Given the description of an element on the screen output the (x, y) to click on. 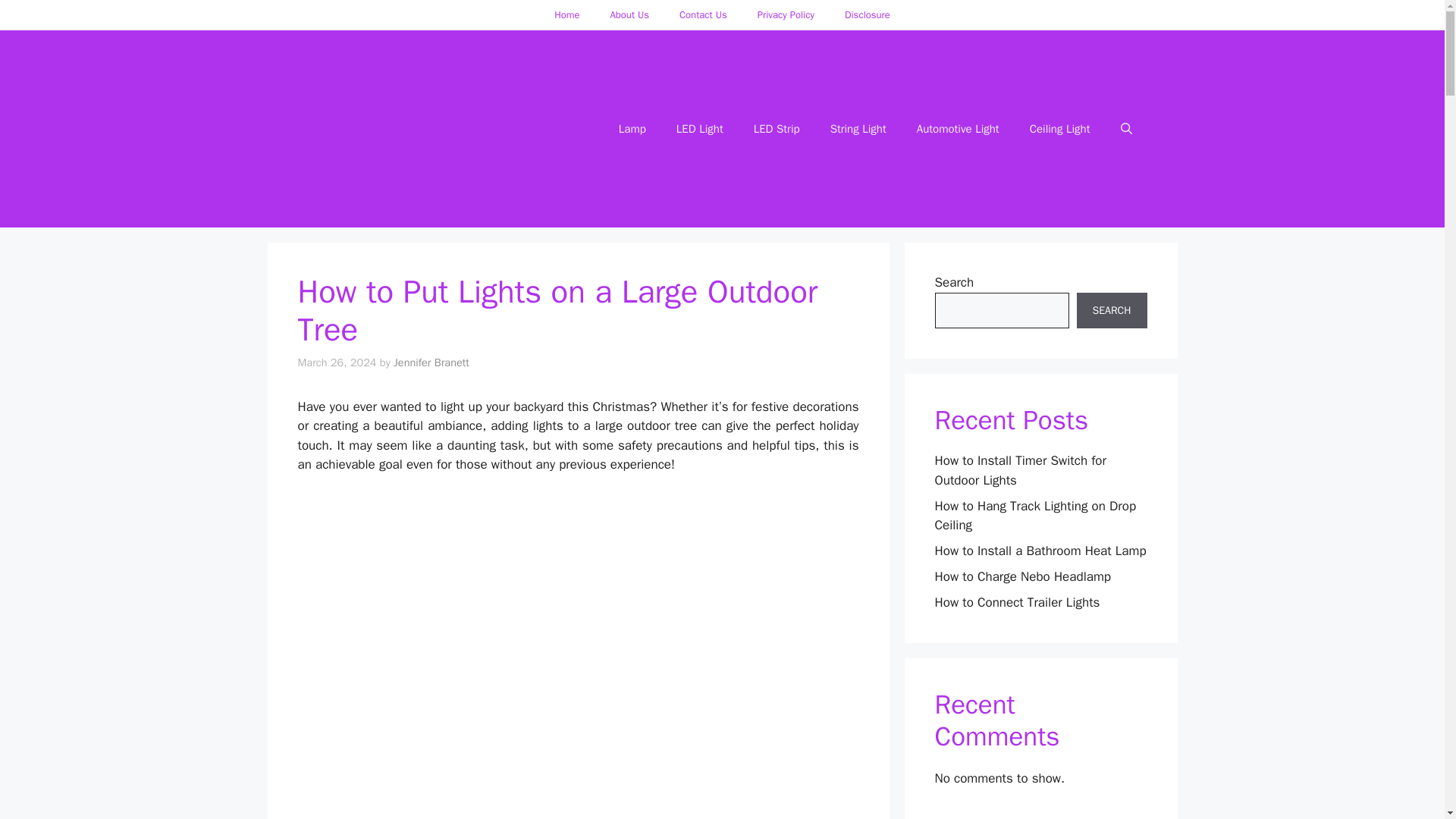
Privacy Policy (785, 15)
Disclosure (867, 15)
Jennifer Branett (430, 362)
Automotive Light (957, 128)
LED Light (699, 128)
View all posts by Jennifer Branett (430, 362)
LED Strip (776, 128)
Lamp (632, 128)
How to Connect Trailer Lights (1016, 602)
String Light (858, 128)
